Given the description of an element on the screen output the (x, y) to click on. 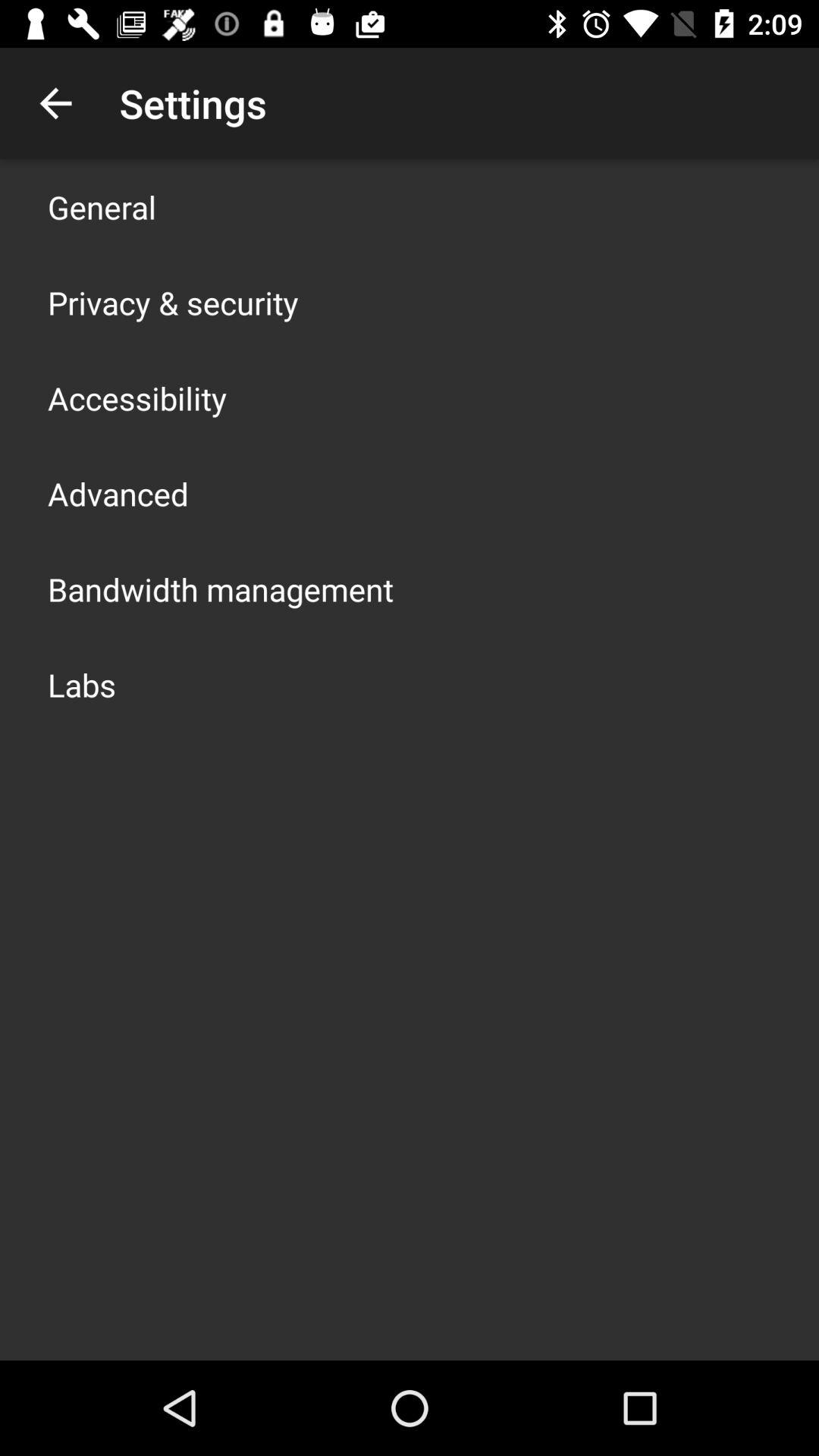
turn off item above general (55, 103)
